Given the description of an element on the screen output the (x, y) to click on. 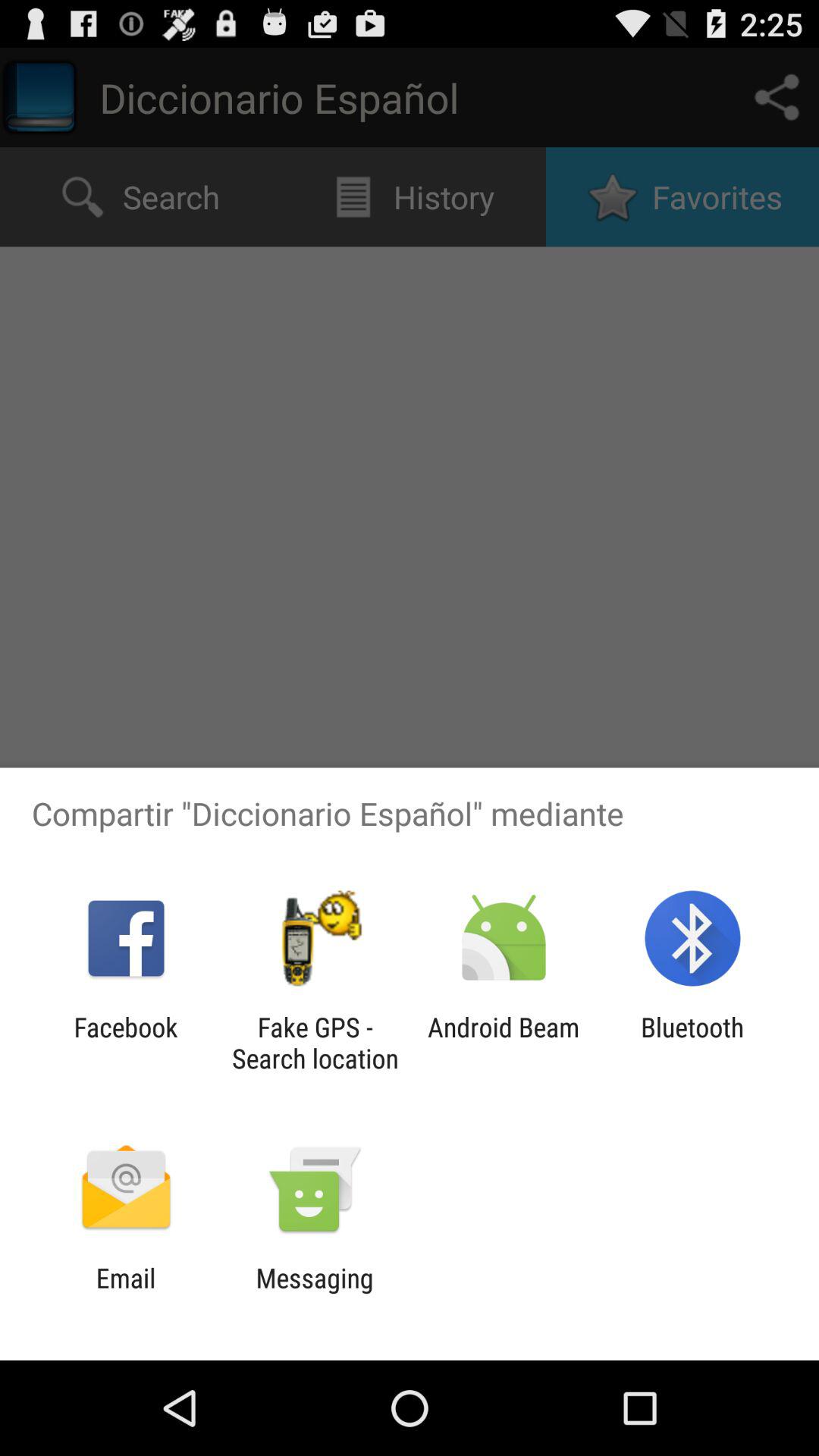
launch the item next to email icon (314, 1293)
